Given the description of an element on the screen output the (x, y) to click on. 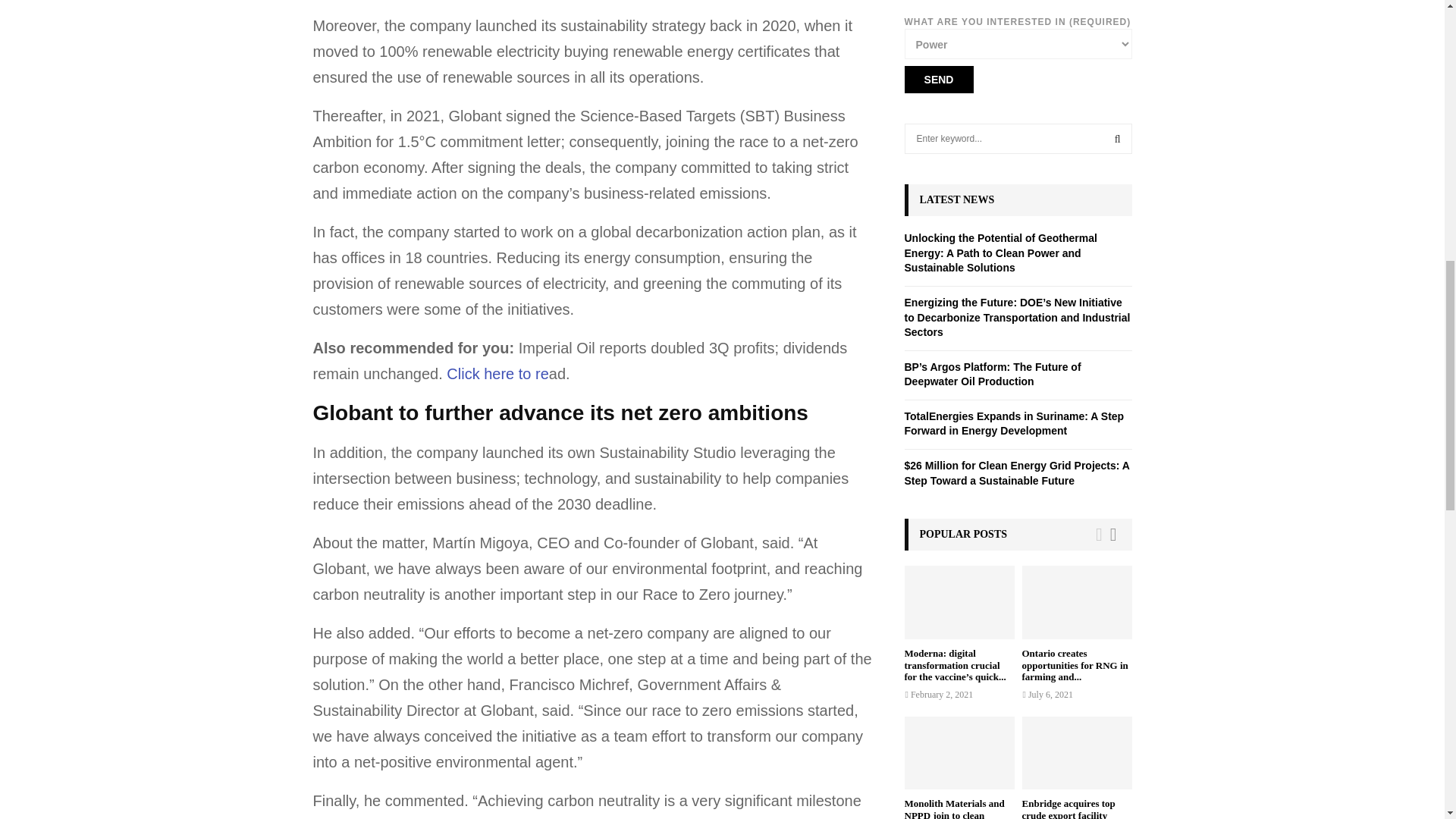
Send (938, 79)
